Given the description of an element on the screen output the (x, y) to click on. 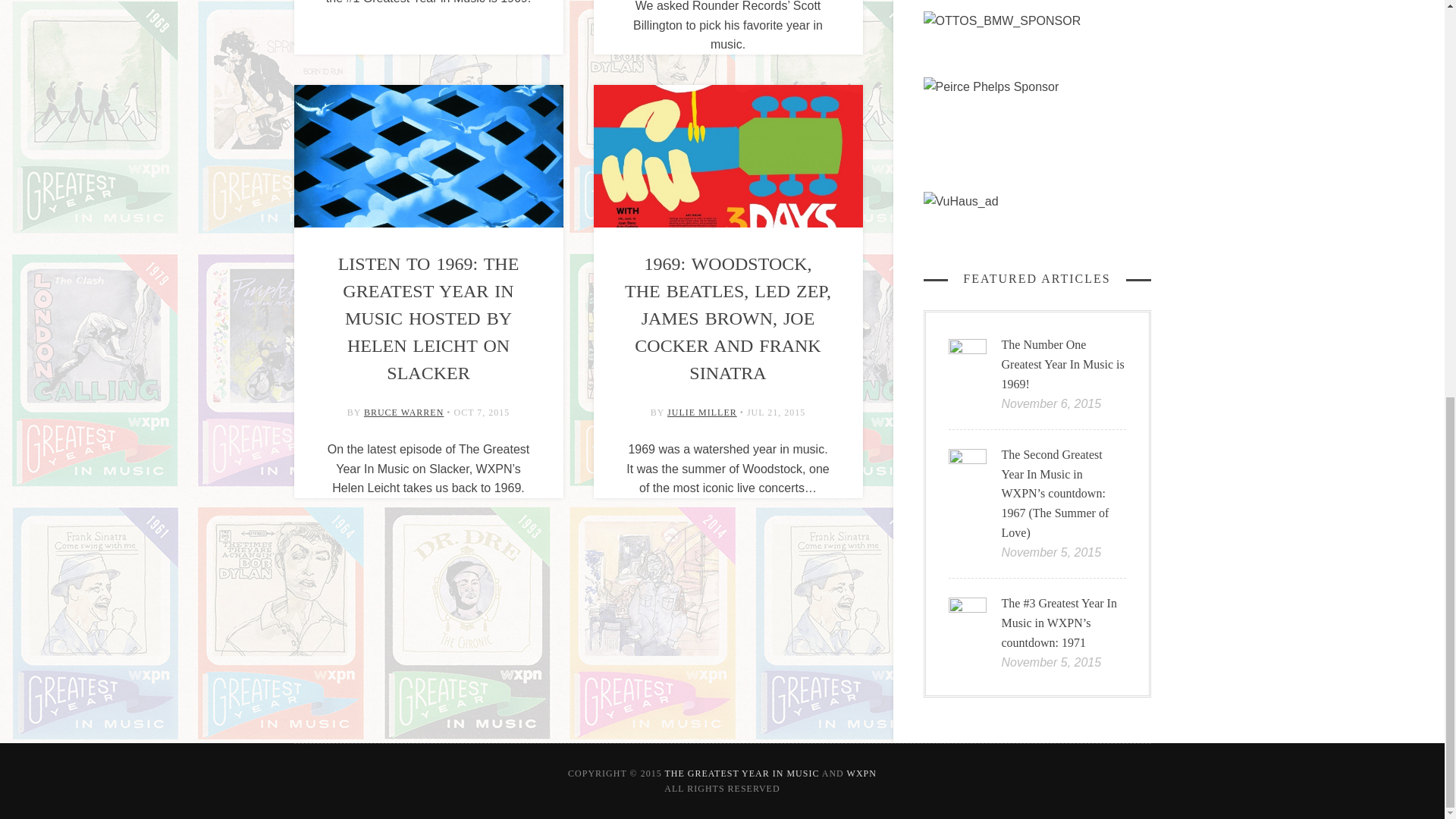
BRUCE WARREN (404, 412)
JULIE MILLER (701, 412)
